Given the description of an element on the screen output the (x, y) to click on. 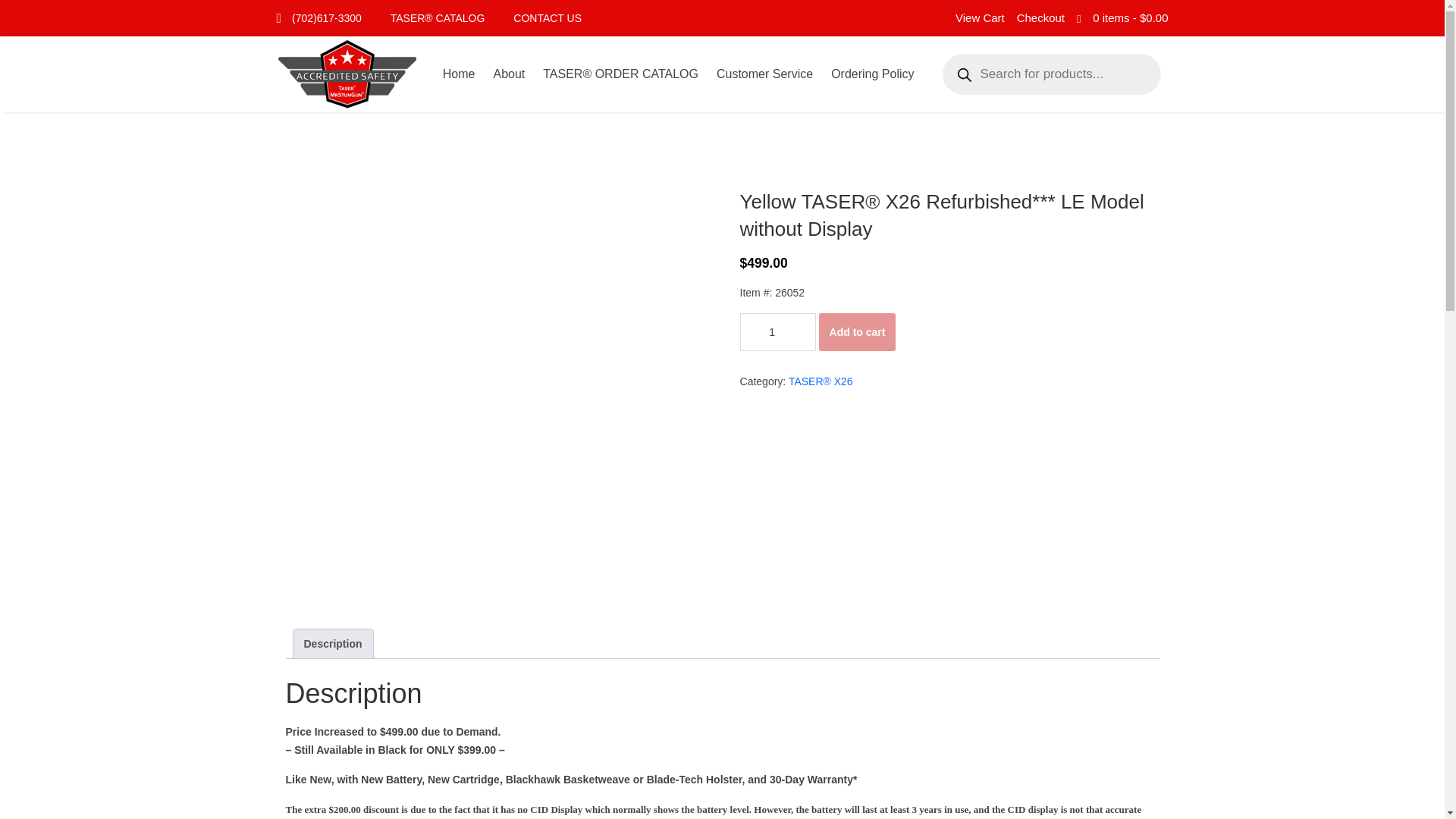
View your shopping cart (1130, 17)
CONTACT US (546, 18)
Description (331, 643)
About (508, 74)
View Cart (979, 17)
Ordering Policy (872, 74)
Add to cart (857, 331)
Checkout (1040, 17)
1 (777, 331)
Customer Service (764, 74)
Home (458, 74)
